Given the description of an element on the screen output the (x, y) to click on. 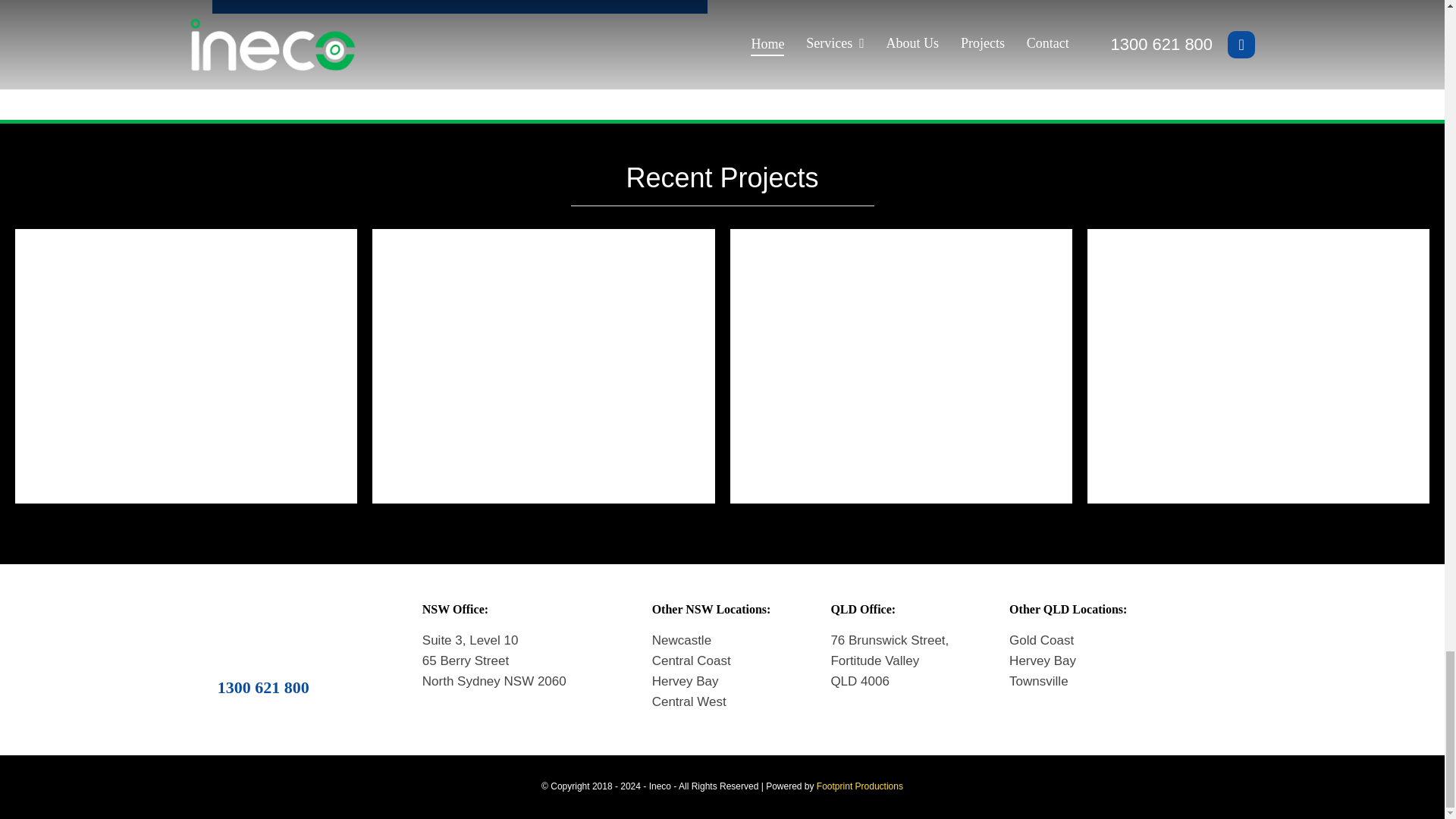
Ineco-Logo-TaglineV2-flat-550 (263, 628)
